Given the description of an element on the screen output the (x, y) to click on. 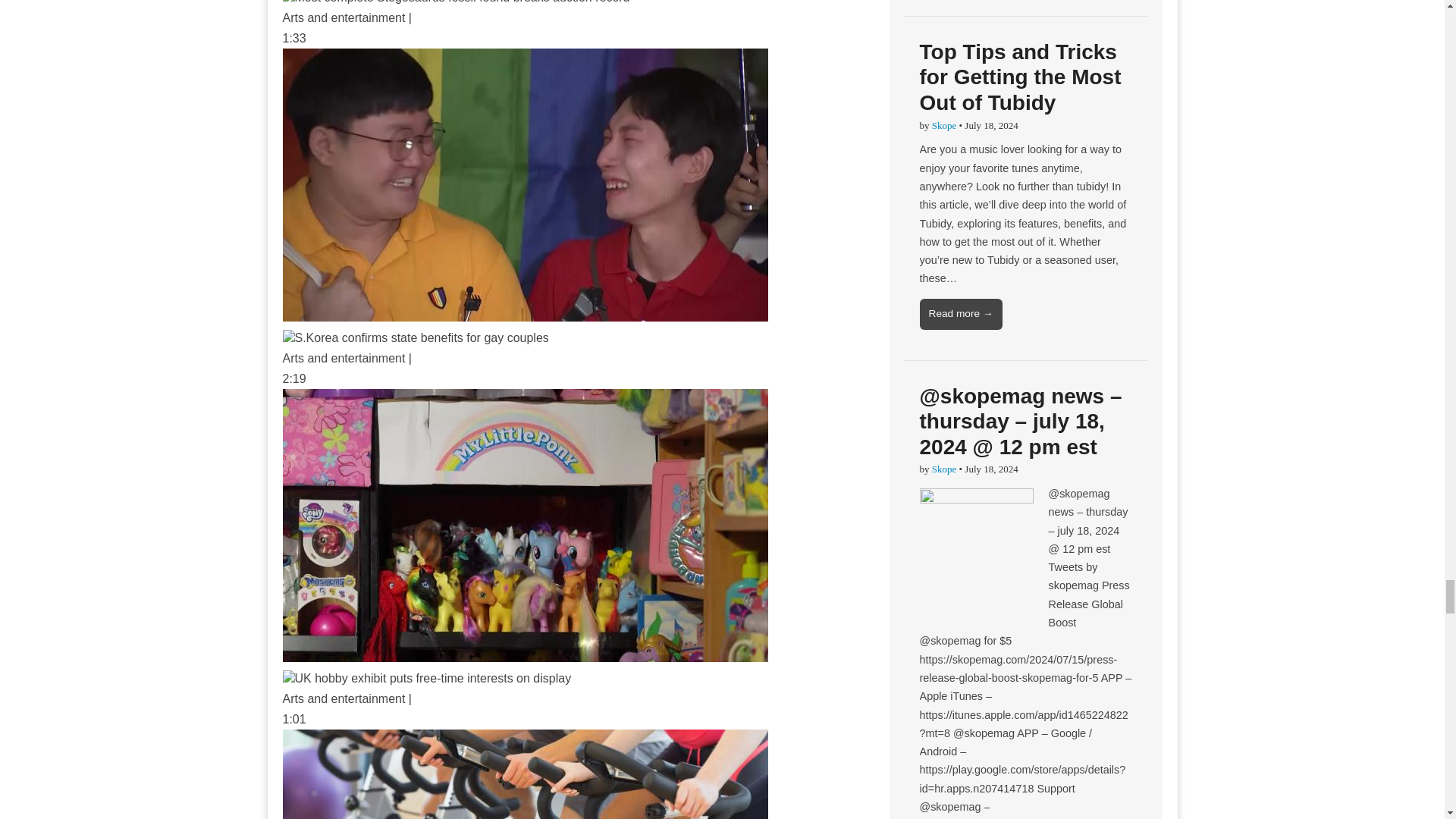
Posts by Skope (943, 125)
